Given the description of an element on the screen output the (x, y) to click on. 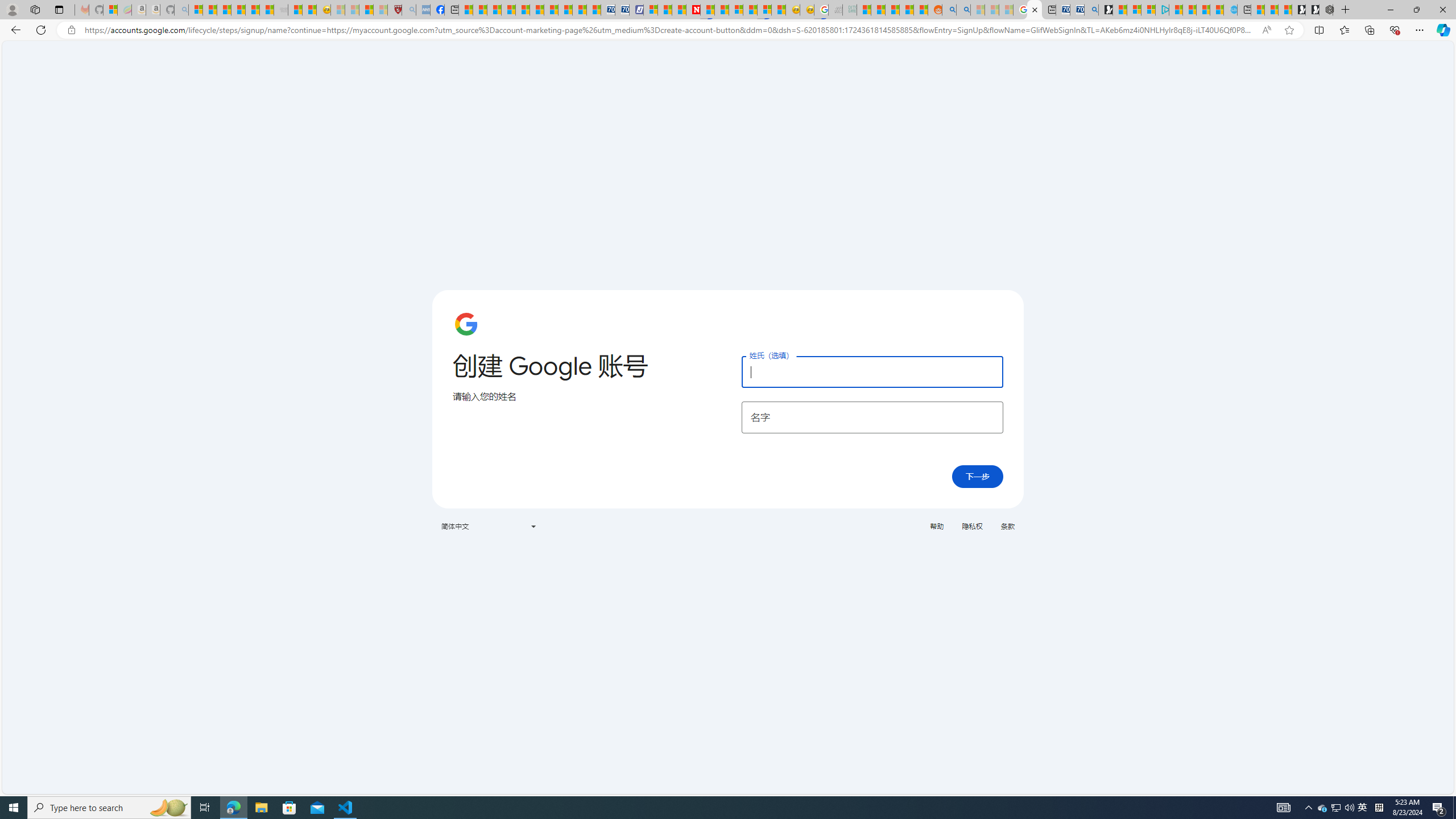
Newsweek - News, Analysis, Politics, Business, Technology (692, 9)
